Given the description of an element on the screen output the (x, y) to click on. 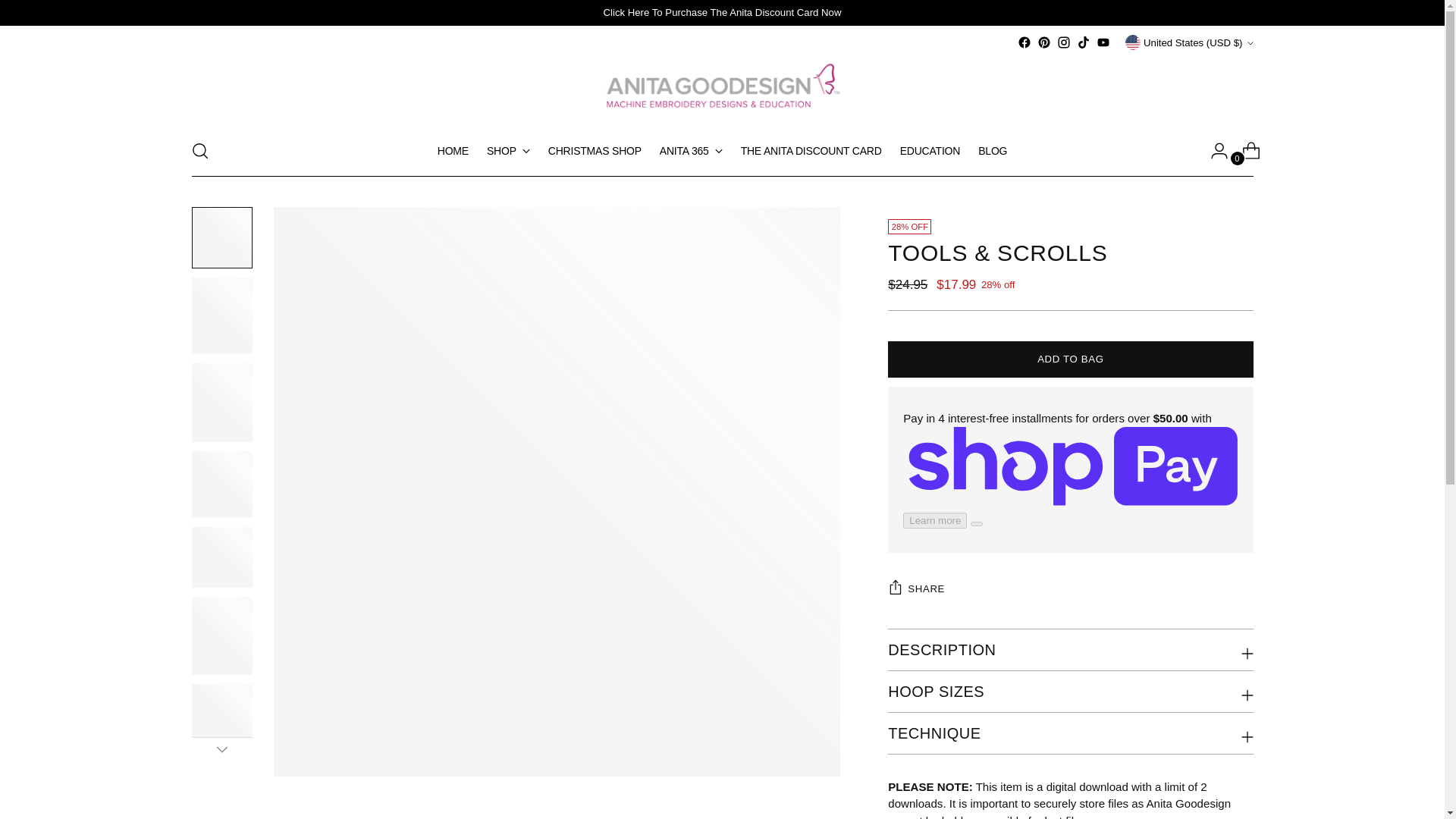
Anita Goodesign on Pinterest (1043, 42)
Anita Goodesign on YouTube (1102, 42)
Down (220, 748)
Anita Goodesign on Instagram (1063, 42)
Click Here To Purchase The Anita Discount Card Now (722, 12)
Anita Goodesign on Facebook (1023, 42)
Anita Goodesign on Tiktok (1083, 42)
